Given the description of an element on the screen output the (x, y) to click on. 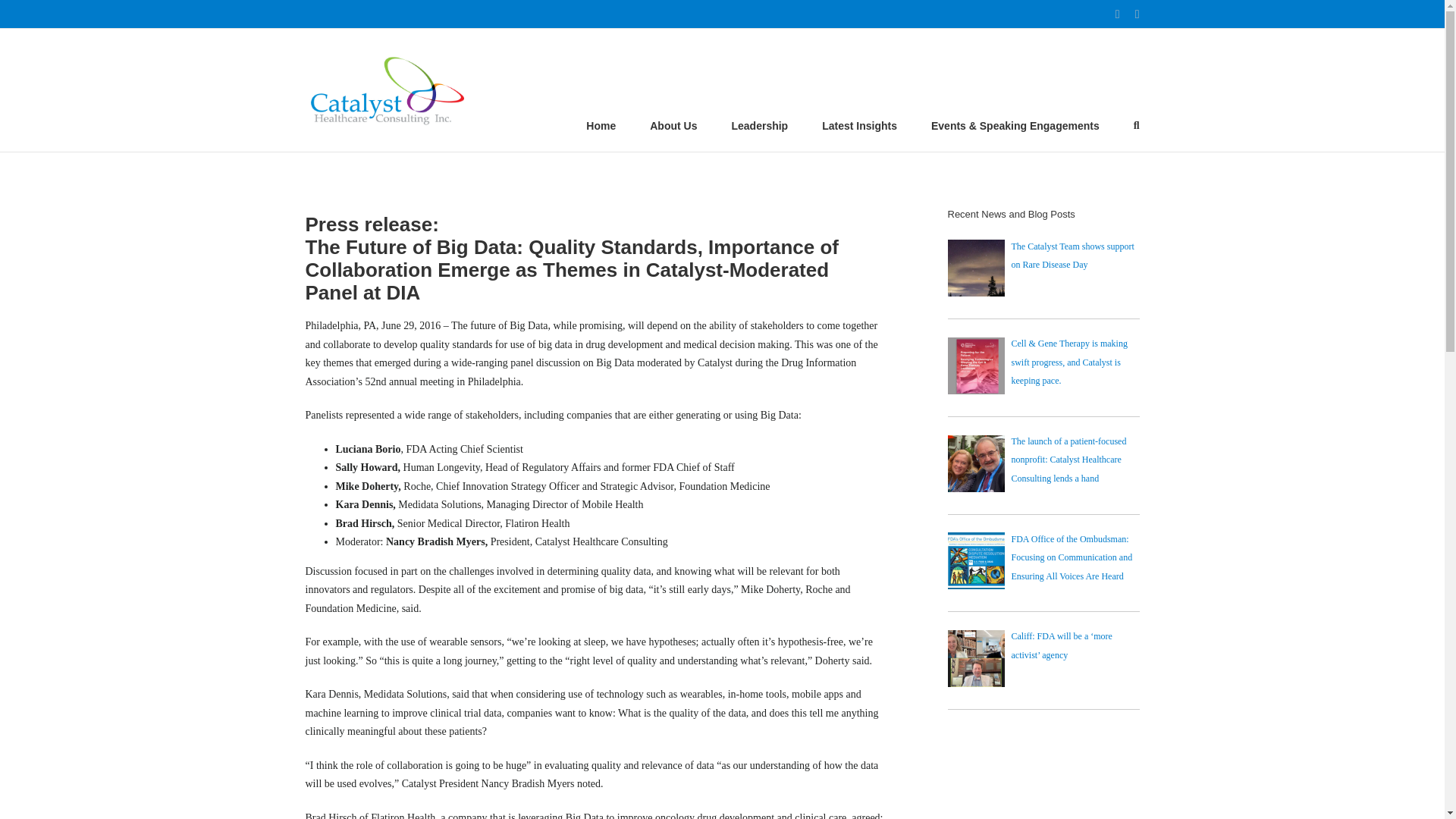
Home (600, 123)
Latest Insights (859, 123)
The Catalyst Team shows support on Rare Disease Day (1072, 255)
Leadership (758, 123)
About Us (673, 123)
